Given the description of an element on the screen output the (x, y) to click on. 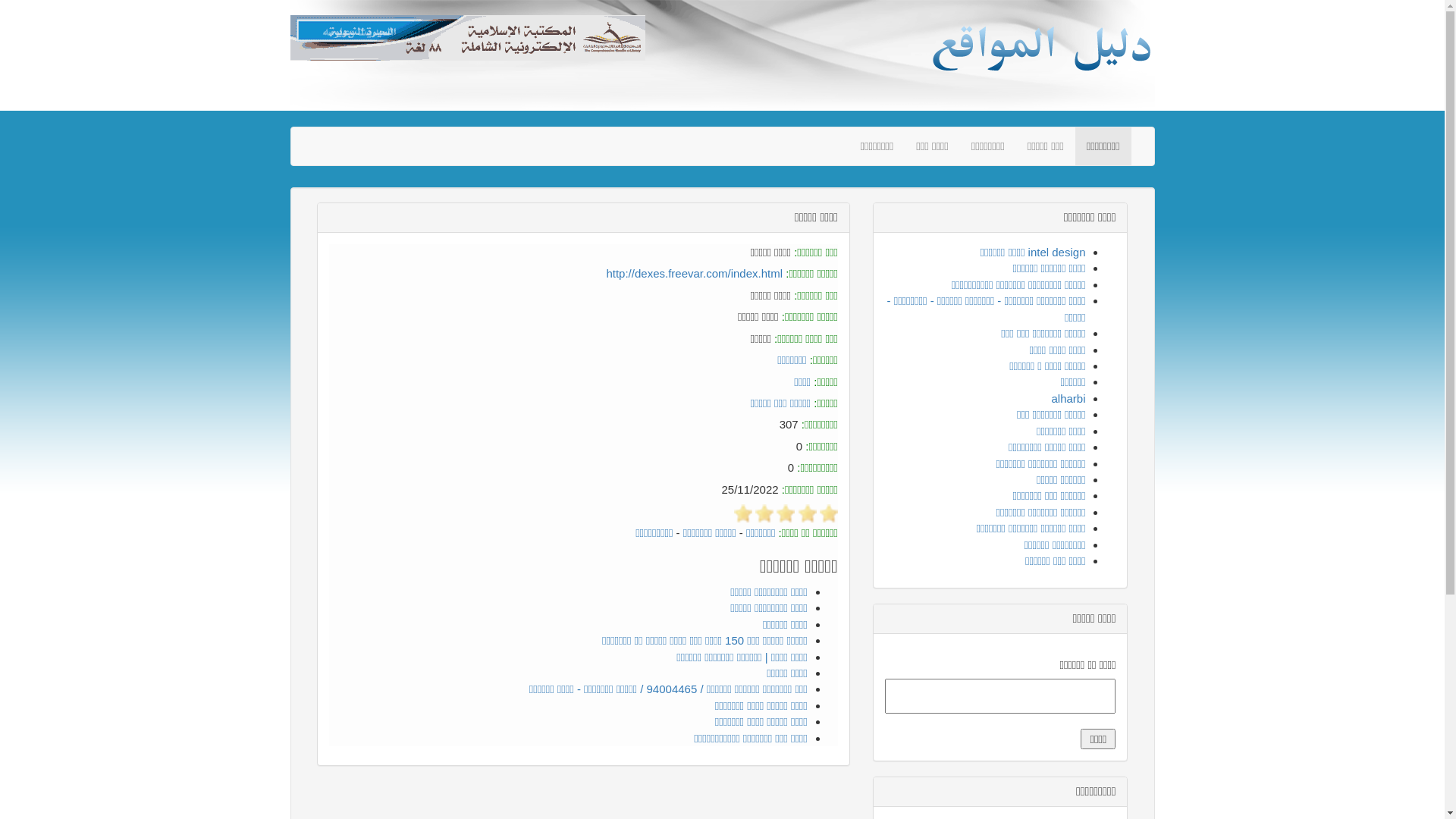
alharbi Element type: text (1068, 398)
http://dexes.freevar.com/index.html Element type: text (693, 272)
